Given the description of an element on the screen output the (x, y) to click on. 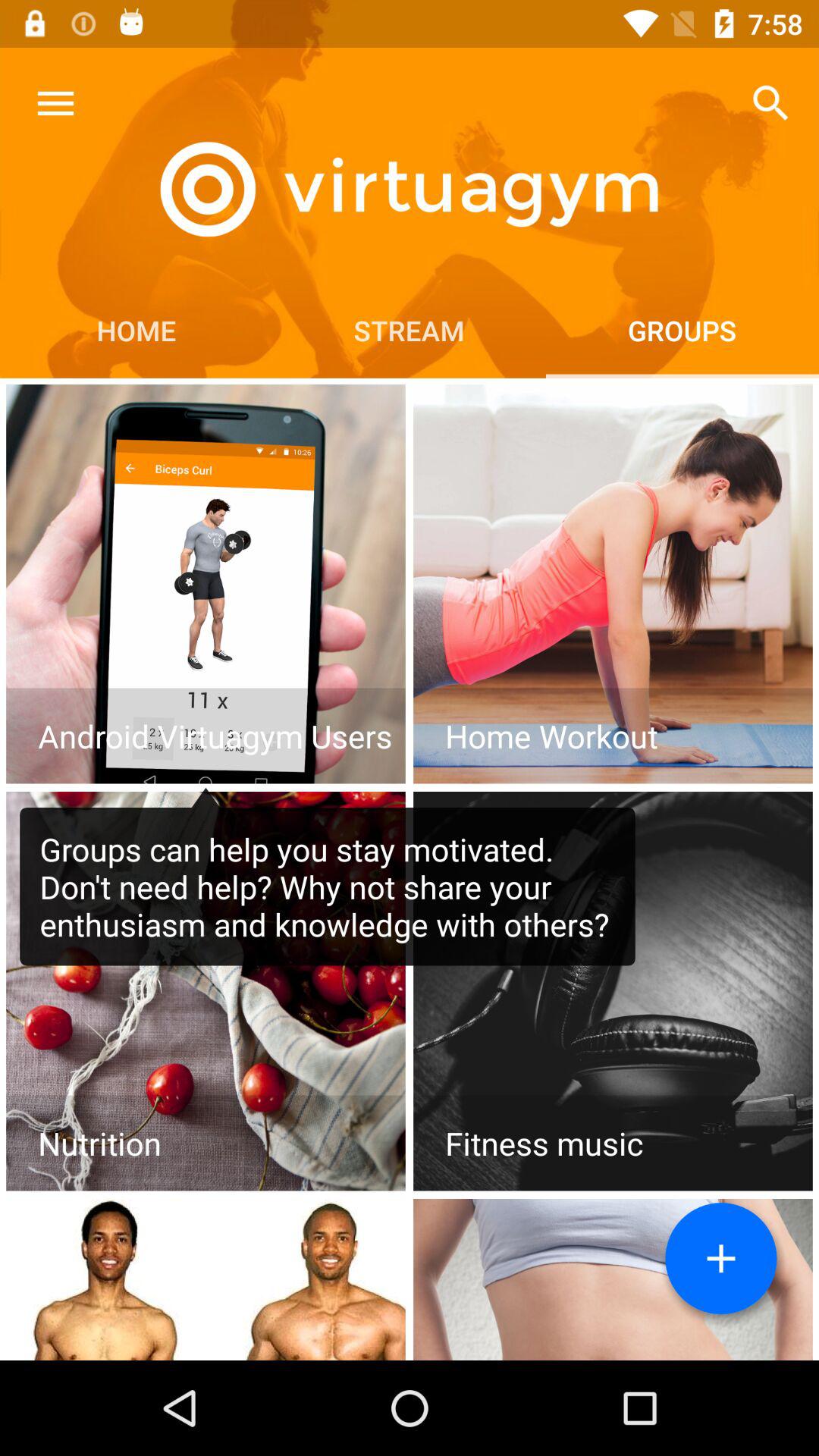
go to home workout option (612, 583)
